Given the description of an element on the screen output the (x, y) to click on. 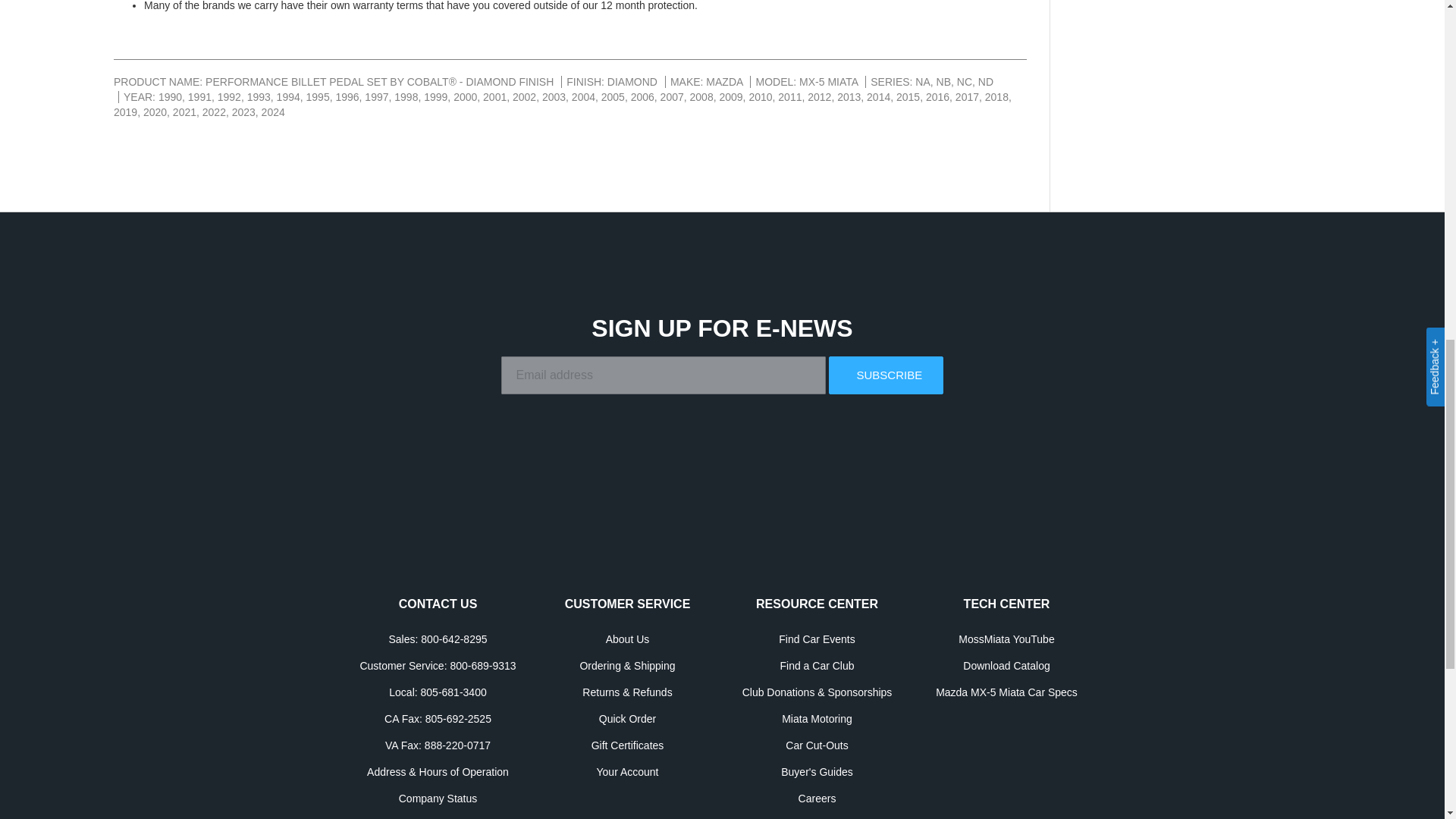
CONTACT US (437, 603)
Subscribe (885, 374)
800-642-8295 (453, 639)
SUBSCRIBE (885, 374)
800-689-9313 (482, 665)
Contact Us (437, 603)
